Given the description of an element on the screen output the (x, y) to click on. 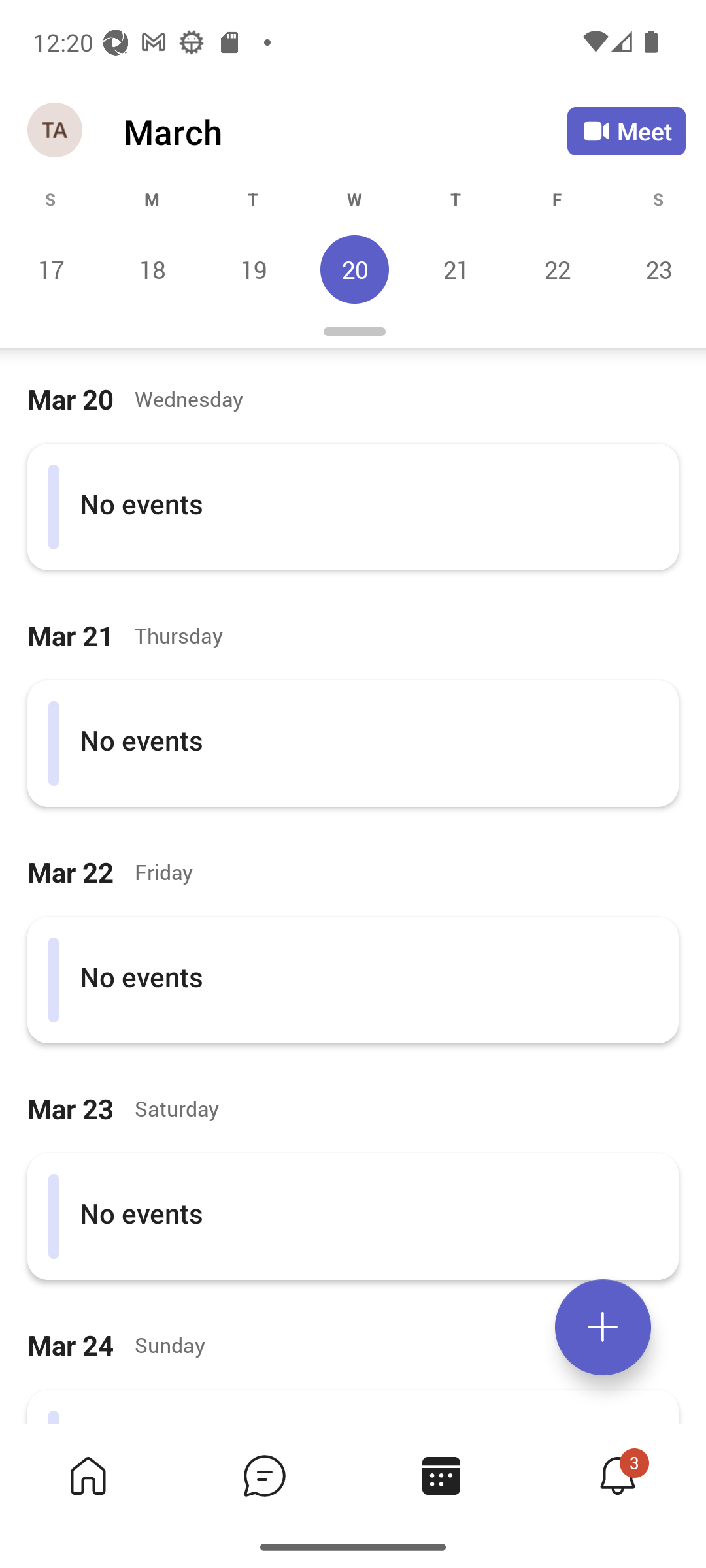
Navigation (56, 130)
Meet Meet now or join with an ID (626, 130)
March March Calendar Agenda View (345, 131)
Sunday, March 17 17 (50, 269)
Monday, March 18 18 (151, 269)
Tuesday, March 19 19 (253, 269)
Wednesday, March 20, Selected 20 (354, 269)
Thursday, March 21 21 (455, 269)
Friday, March 22 22 (556, 269)
Saturday, March 23 23 (656, 269)
Expand meetings menu (602, 1327)
Home tab,1 of 4, not selected (88, 1475)
Chat tab,2 of 4, not selected (264, 1475)
Calendar tab, 3 of 4 (441, 1475)
Activity tab,4 of 4, not selected, 3 new 3 (617, 1475)
